Given the description of an element on the screen output the (x, y) to click on. 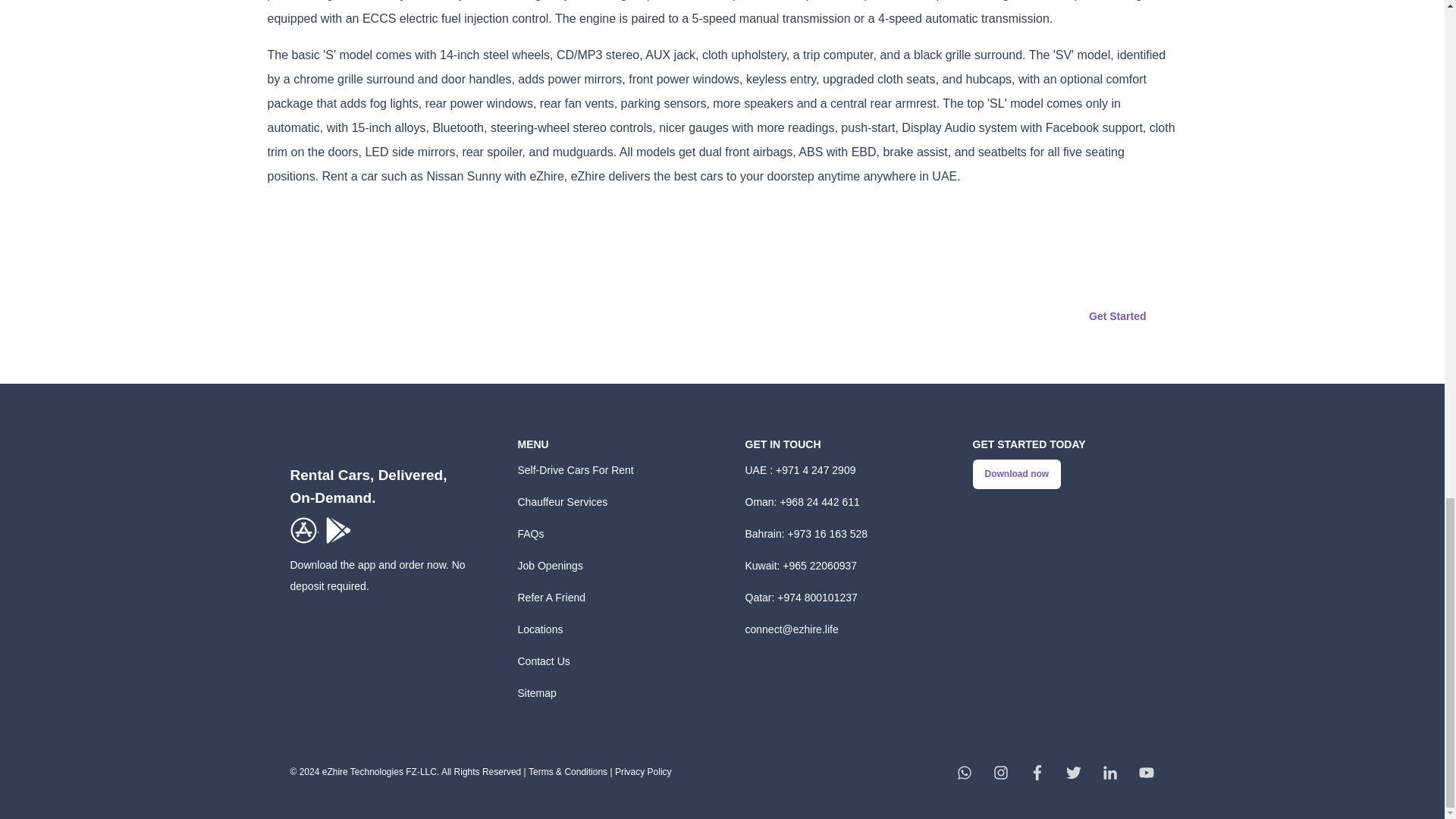
Button Download now (1016, 473)
Button Get Started (1117, 315)
